Given the description of an element on the screen output the (x, y) to click on. 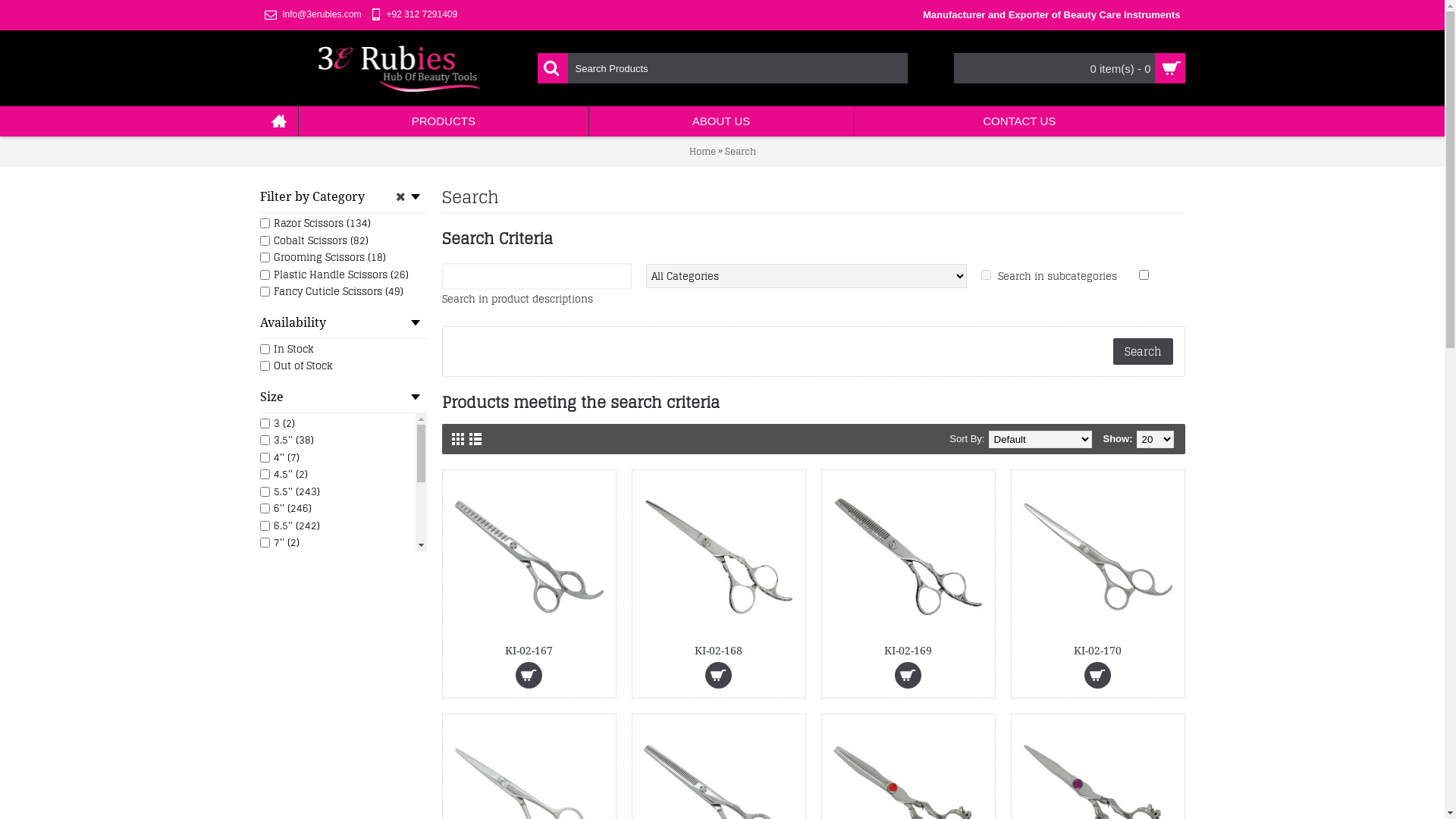
CONTACT US Element type: text (1019, 121)
KI-02-168 Element type: hover (718, 556)
KI-02-169 Element type: text (907, 649)
KI-02-170 Element type: text (1097, 649)
KI-02-168 Element type: text (718, 649)
Home Element type: text (701, 150)
KI-02-167 Element type: text (528, 649)
ABOUT US Element type: text (721, 121)
KI-02-170 Element type: hover (1097, 556)
KI-02-169 Element type: hover (907, 556)
info@3erubies.com Element type: text (312, 15)
Search Element type: text (740, 150)
PRODUCTS Element type: text (443, 121)
3Erubies Element type: hover (398, 67)
0 item(s) - 0 Element type: text (1069, 68)
KI-02-167 Element type: hover (528, 556)
